Given the description of an element on the screen output the (x, y) to click on. 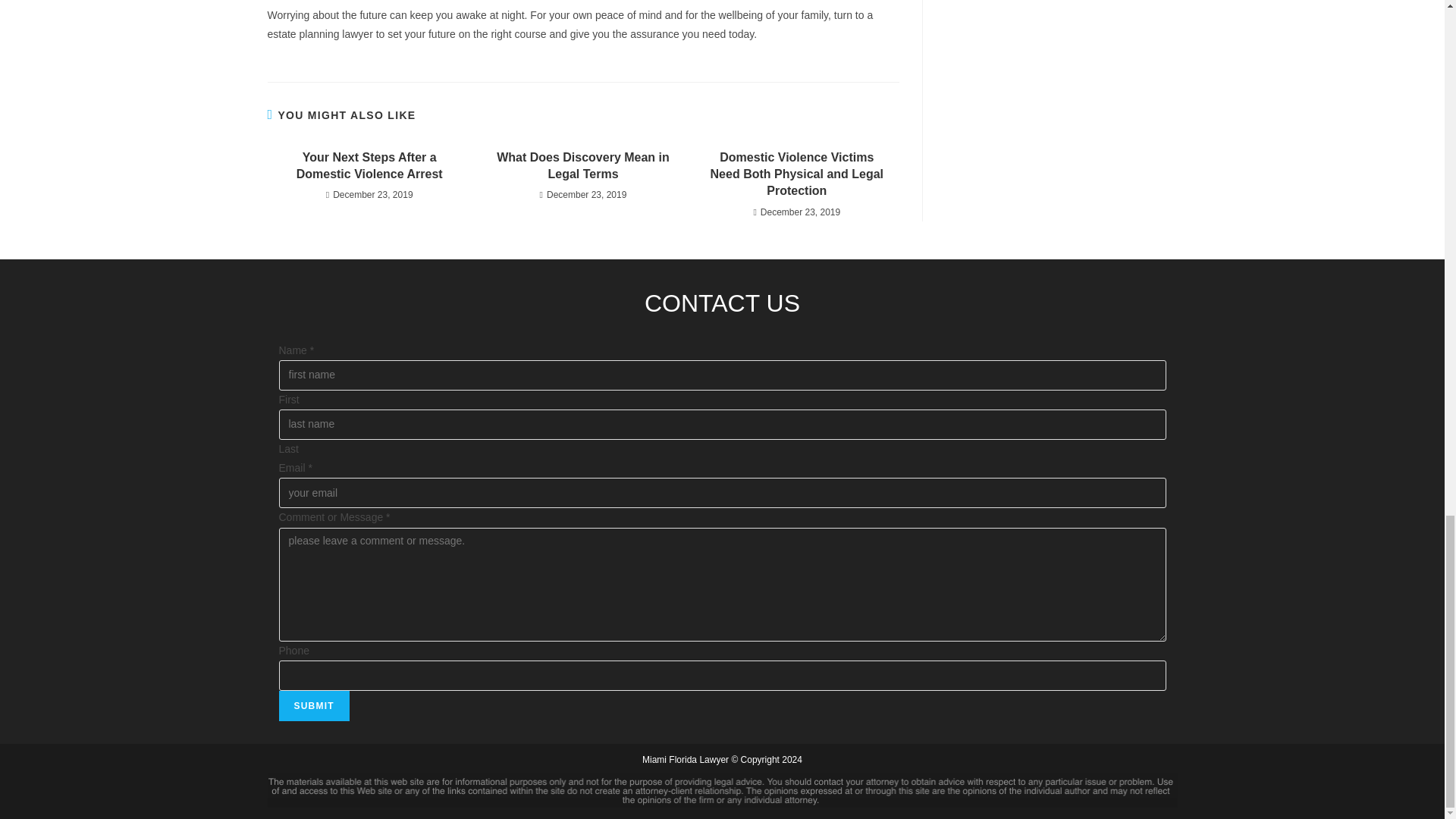
What Does Discovery Mean in Legal Terms (582, 193)
Your Next Steps After a Domestic Violence Arrest (368, 193)
